Given the description of an element on the screen output the (x, y) to click on. 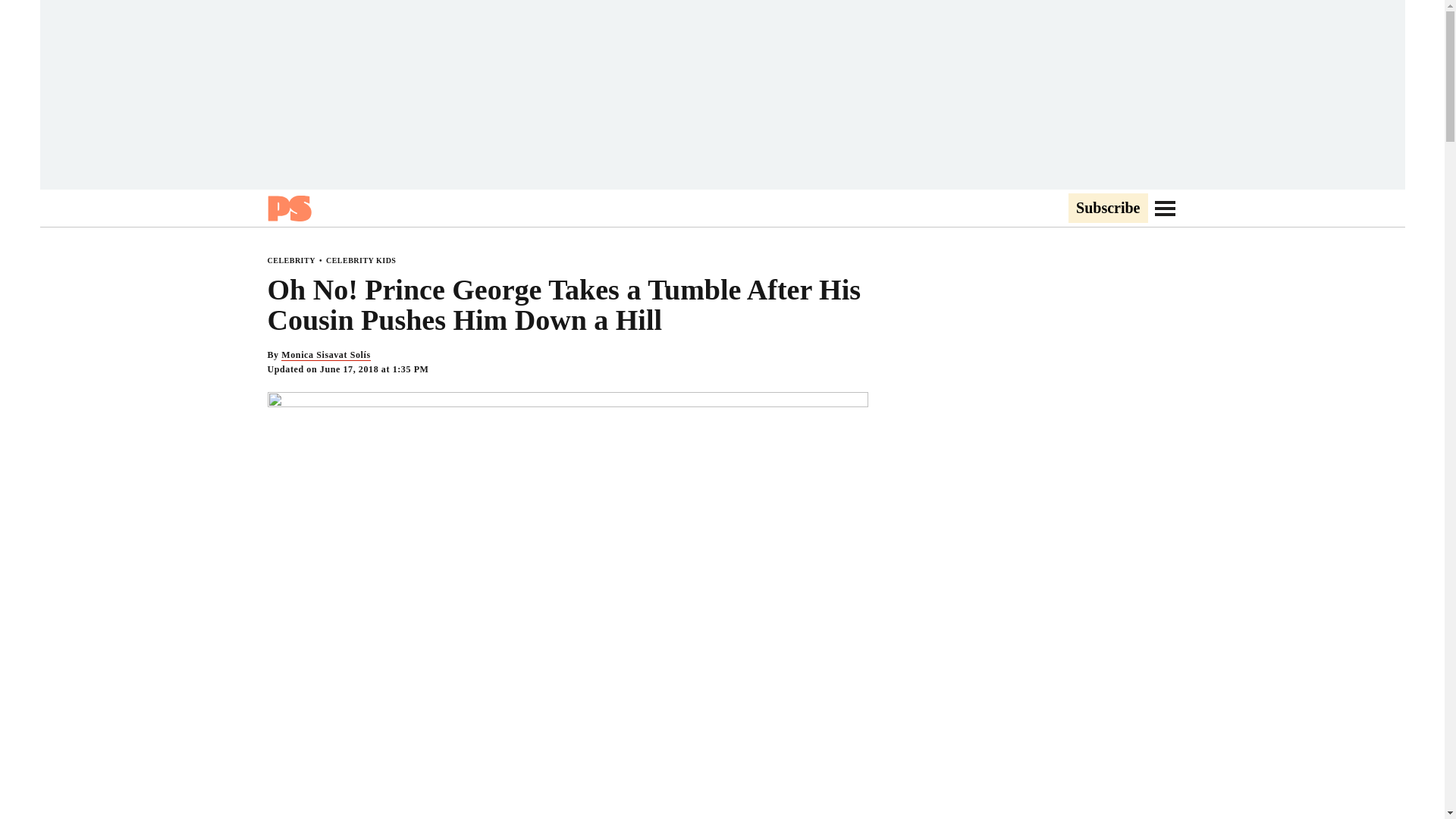
Go to Navigation (1164, 207)
Popsugar (288, 208)
Go to Navigation (1164, 207)
CELEBRITY (290, 260)
CELEBRITY KIDS (361, 260)
Subscribe (1107, 208)
